Given the description of an element on the screen output the (x, y) to click on. 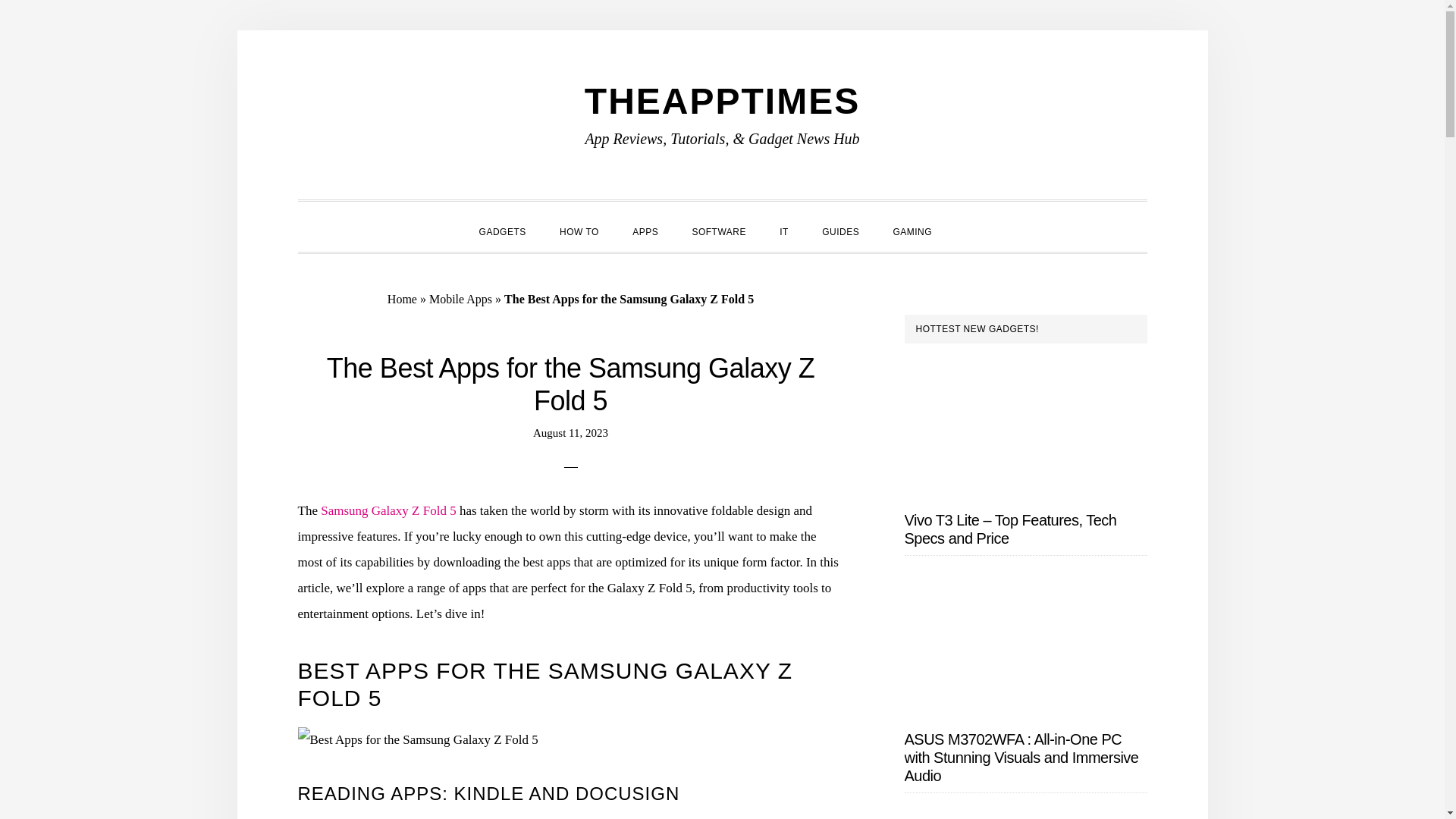
Samsung Galaxy Z Fold 5 (388, 510)
GAMING (912, 230)
SOFTWARE (719, 230)
IT (783, 230)
SHOW SEARCH (964, 218)
APPS (644, 230)
Mobile Apps (460, 298)
Home (401, 298)
GADGETS (502, 230)
THEAPPTIMES (722, 101)
GUIDES (840, 230)
HOW TO (579, 230)
